Given the description of an element on the screen output the (x, y) to click on. 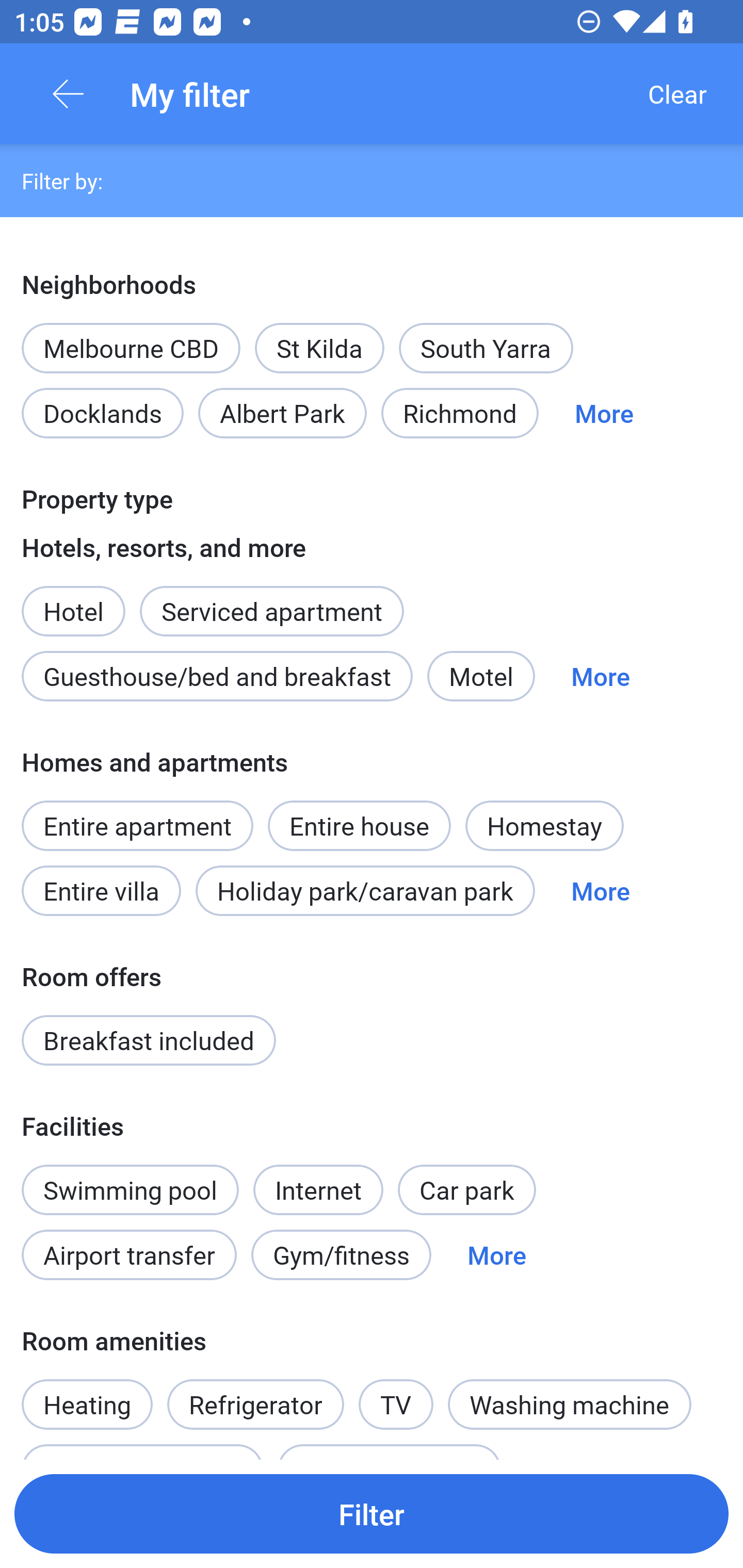
Clear (676, 93)
Melbourne CBD (130, 348)
St Kilda (319, 348)
South Yarra (485, 348)
Docklands (102, 413)
Albert Park (282, 413)
Richmond (459, 413)
More (603, 413)
Hotel (73, 600)
Serviced apartment (271, 600)
Guesthouse/bed and breakfast (217, 676)
Motel (480, 676)
More (600, 676)
Entire apartment (137, 825)
Entire house (359, 814)
Homestay (544, 825)
Entire villa (101, 890)
Holiday park/caravan park (364, 890)
More (600, 890)
Breakfast included (148, 1040)
Swimming pool (130, 1190)
Internet (318, 1179)
Car park (466, 1190)
Airport transfer (129, 1255)
Gym/fitness (341, 1255)
More (496, 1255)
Heating (87, 1393)
Refrigerator (255, 1404)
TV (395, 1393)
Washing machine (569, 1404)
Filter (371, 1513)
